Given the description of an element on the screen output the (x, y) to click on. 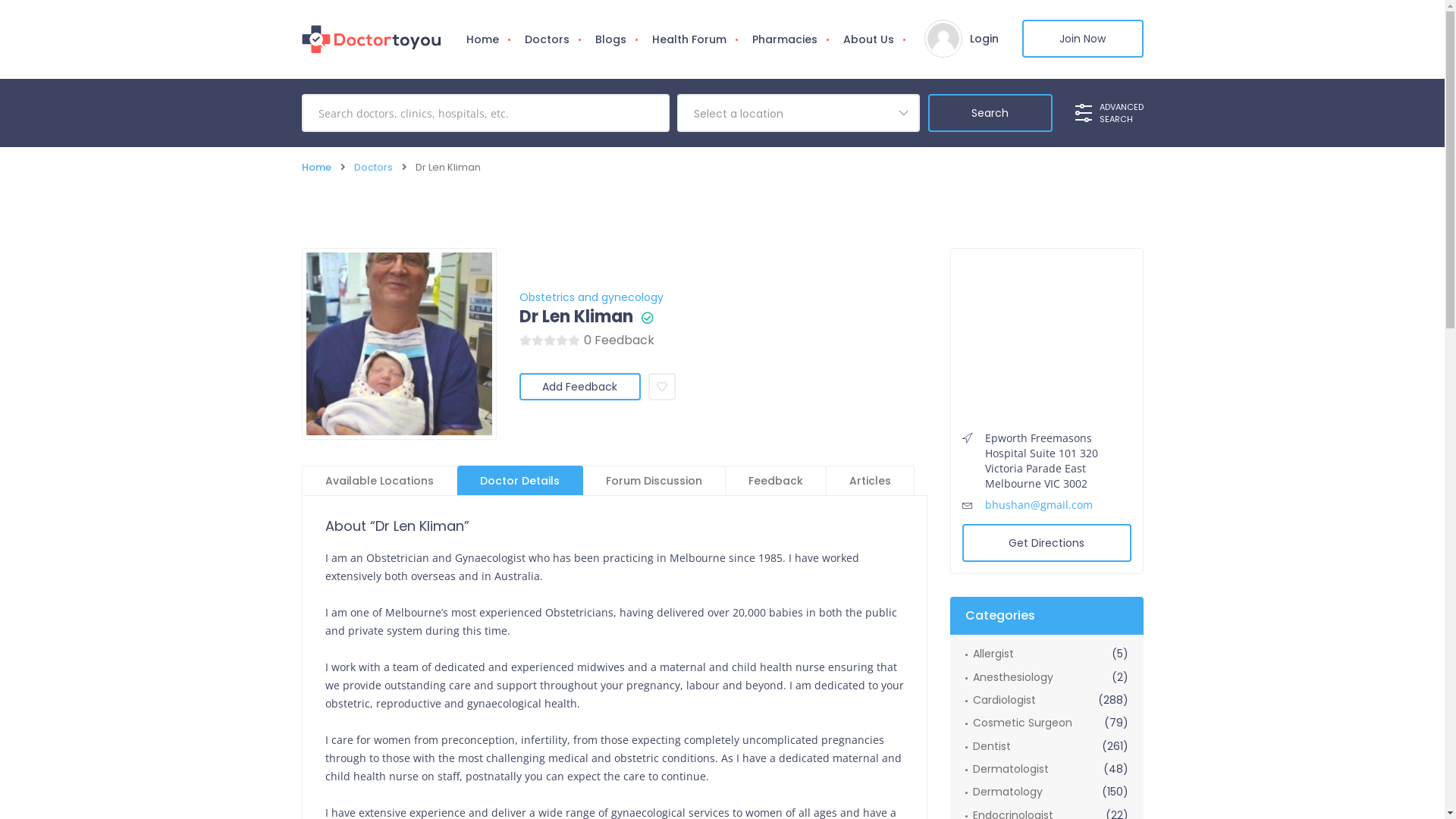
Doctors Element type: text (372, 167)
Obstetrics and gynecology Element type: text (590, 296)
Doctor Details Element type: text (519, 480)
Anesthesiology Element type: text (1008, 676)
Add Feedback Element type: text (579, 386)
Cosmetic Surgeon Element type: text (1017, 722)
Dermatologist Element type: text (1006, 768)
Dentist Element type: text (987, 745)
Pharmacies Element type: text (784, 39)
Search Element type: text (990, 112)
Allergist Element type: text (988, 653)
Blogs Element type: text (610, 39)
Available Locations Element type: text (379, 480)
Dermatology Element type: text (1002, 791)
Forum Discussion Element type: text (653, 480)
Get Directions Element type: text (1045, 542)
Articles Element type: text (870, 480)
About Us Element type: text (867, 39)
Home Element type: text (316, 167)
Health Forum Element type: text (688, 39)
bhushan@gmail.com Element type: text (1038, 504)
Home Element type: text (482, 39)
Feedback Element type: text (774, 480)
Dr Len Kliman Element type: text (575, 316)
Doctors Element type: text (546, 39)
ADVANCED
SEARCH Element type: text (1109, 112)
Cardiologist Element type: text (999, 699)
Login Element type: text (983, 38)
Join Now Element type: text (1082, 38)
